Given the description of an element on the screen output the (x, y) to click on. 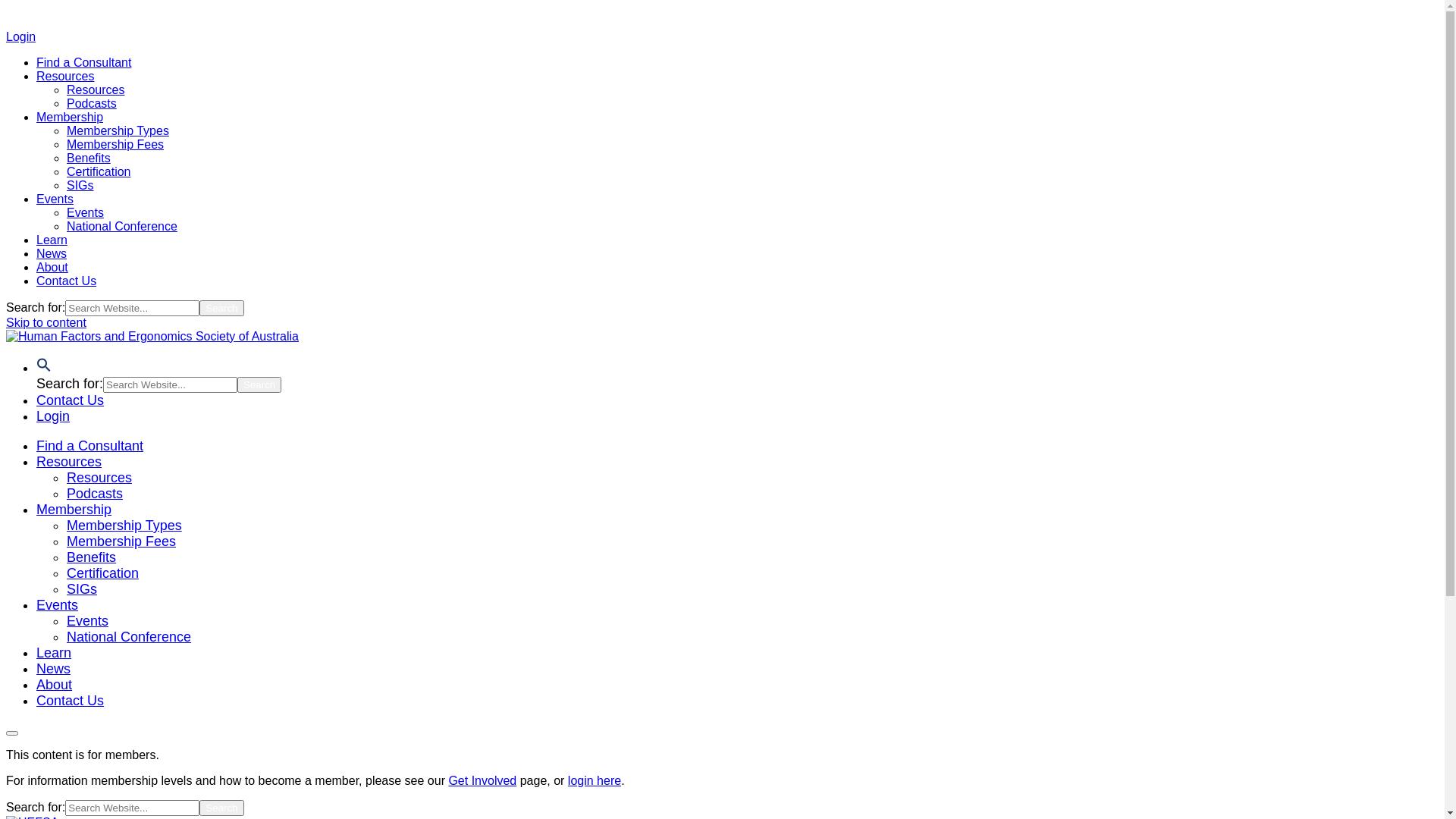
Learn Element type: text (51, 239)
Membership Element type: text (73, 509)
Search Element type: text (221, 308)
Contact Us Element type: text (69, 700)
Get Involved Element type: text (482, 780)
News Element type: text (53, 668)
Search Element type: text (221, 807)
SIGs Element type: text (81, 588)
About Element type: text (54, 684)
Events Element type: text (57, 604)
Membership Types Element type: text (117, 130)
Contact Us Element type: text (69, 399)
Contact Us Element type: text (66, 280)
Find a Consultant Element type: text (83, 62)
Events Element type: text (54, 198)
News Element type: text (51, 253)
Membership Types Element type: text (124, 525)
Benefits Element type: text (88, 157)
Find a Consultant Element type: text (89, 445)
Learn Element type: text (53, 652)
National Conference Element type: text (121, 225)
Podcasts Element type: text (91, 103)
Skip to content Element type: text (46, 322)
Benefits Element type: text (91, 556)
Membership Fees Element type: text (114, 144)
Membership Element type: text (69, 116)
Podcasts Element type: text (94, 493)
National Conference Element type: text (128, 636)
Resources Element type: text (95, 89)
Resources Element type: text (65, 75)
Membership Fees Element type: text (120, 541)
SIGs Element type: text (80, 184)
Login Element type: text (20, 36)
Events Element type: text (84, 212)
Human Factors and Ergonomics Society of Australia Element type: text (308, 372)
Events Element type: text (87, 620)
Resources Element type: text (68, 461)
Certification Element type: text (102, 572)
Certification Element type: text (98, 171)
login here Element type: text (594, 780)
Search Element type: text (259, 384)
Login Element type: text (52, 415)
About Element type: text (52, 266)
Resources Element type: text (98, 477)
